Given the description of an element on the screen output the (x, y) to click on. 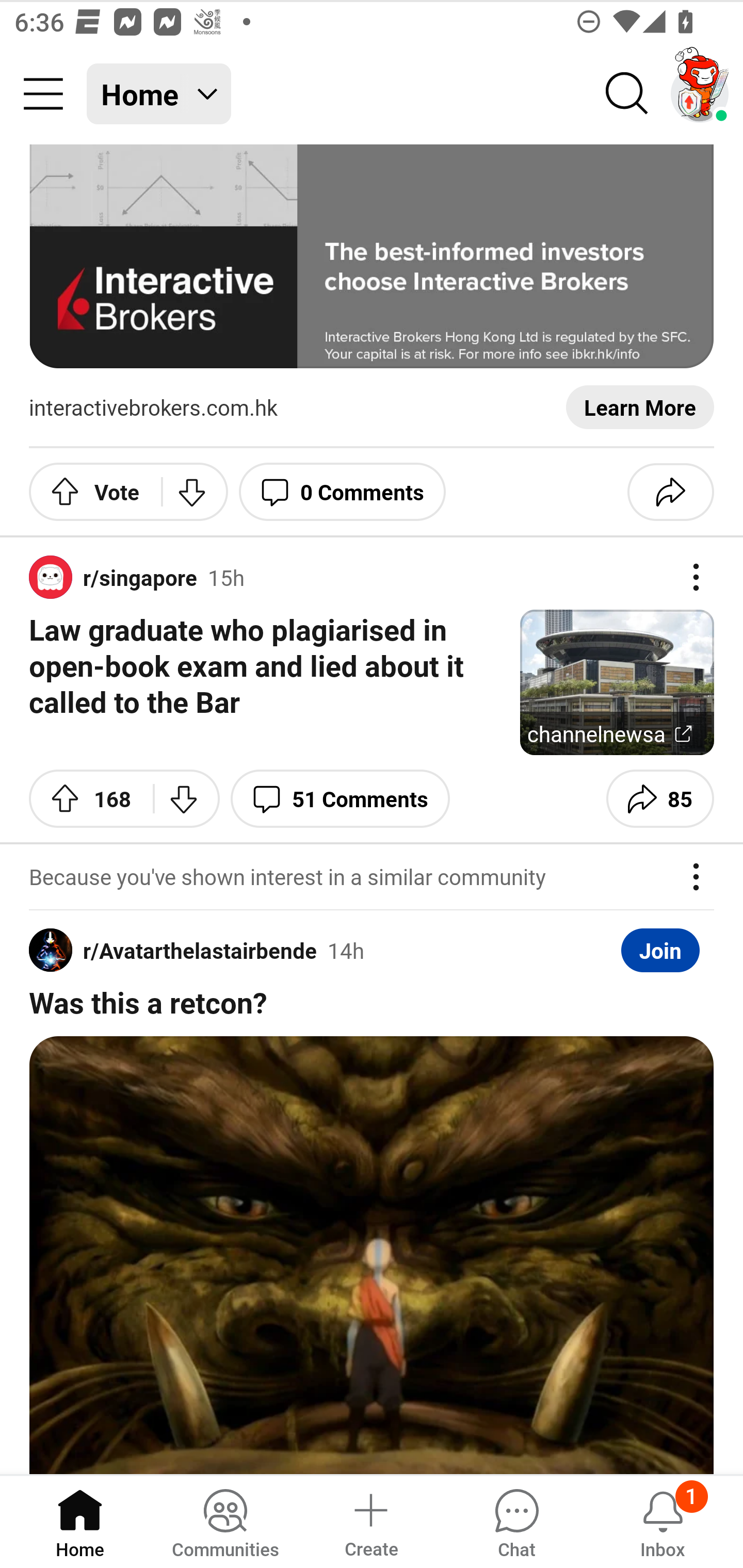
Community menu (43, 93)
Home Home feed (158, 93)
Search (626, 93)
TestAppium002 account (699, 93)
Home (80, 1520)
Communities (225, 1520)
Create a post Create (370, 1520)
Chat (516, 1520)
Inbox, has 1 notification 1 Inbox (662, 1520)
